Given the description of an element on the screen output the (x, y) to click on. 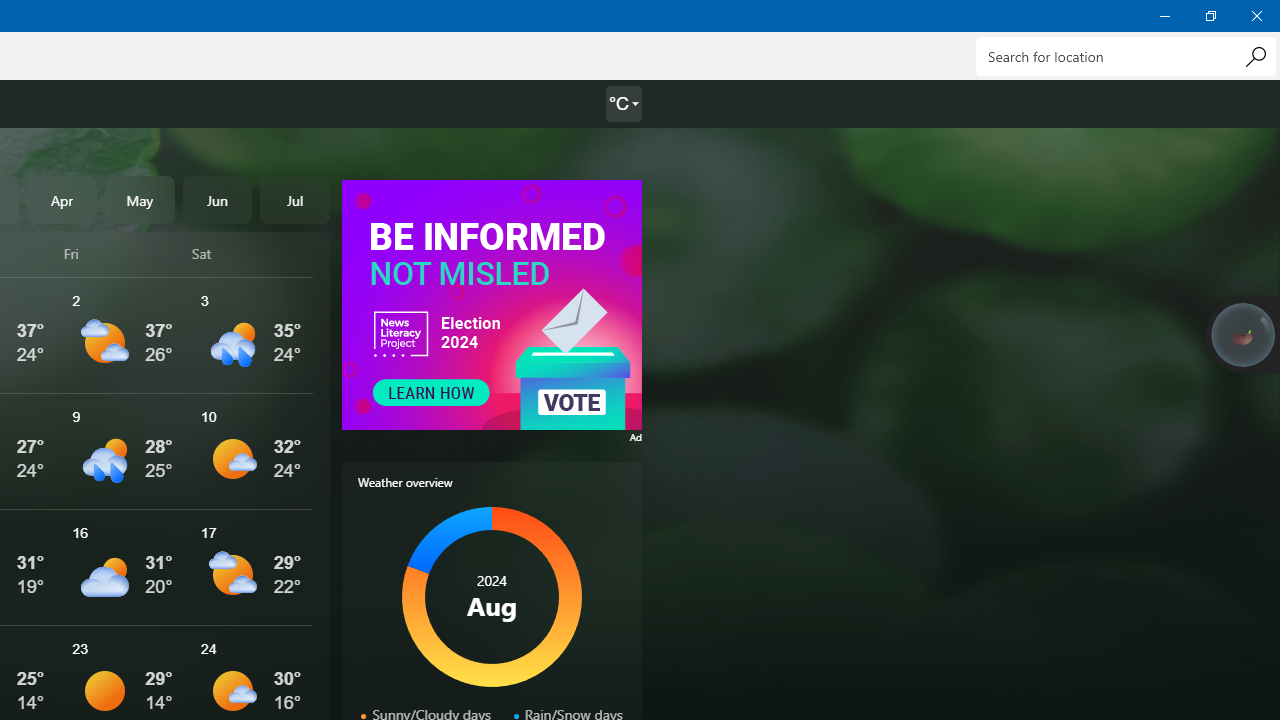
Search (1255, 56)
Search for location (1125, 56)
Minimize Weather (1164, 15)
Close Weather (1256, 15)
Restore Weather (1210, 15)
